Given the description of an element on the screen output the (x, y) to click on. 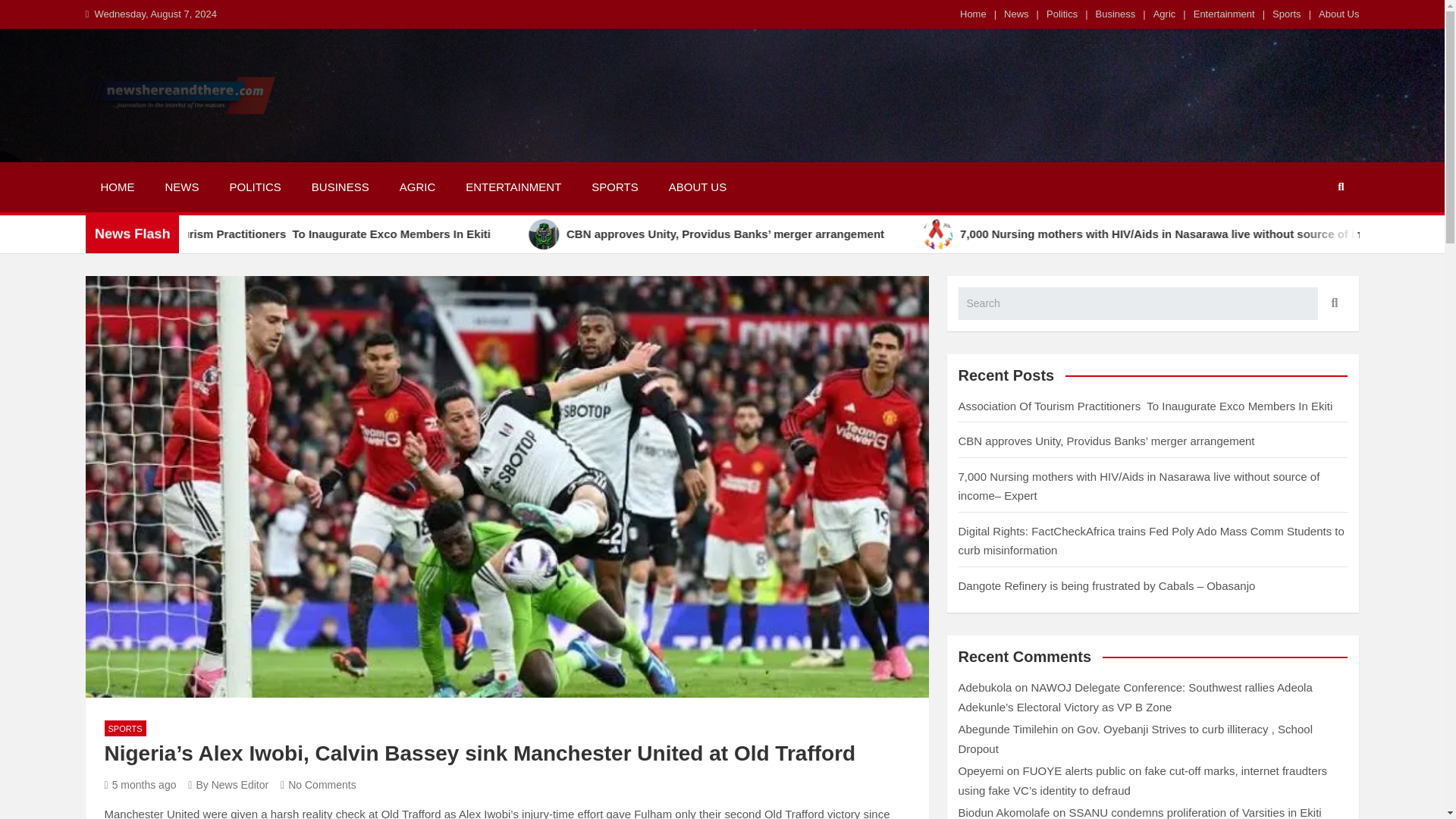
NEWS (181, 187)
Home (973, 13)
ENTERTAINMENT (512, 187)
No Comments (318, 784)
AGRIC (417, 187)
Entertainment (1224, 13)
News (1016, 13)
Business (1115, 13)
Sports (1286, 13)
BUSINESS (340, 187)
Politics (1061, 13)
HOME (116, 187)
5 months ago (140, 784)
SPORTS (125, 728)
